Given the description of an element on the screen output the (x, y) to click on. 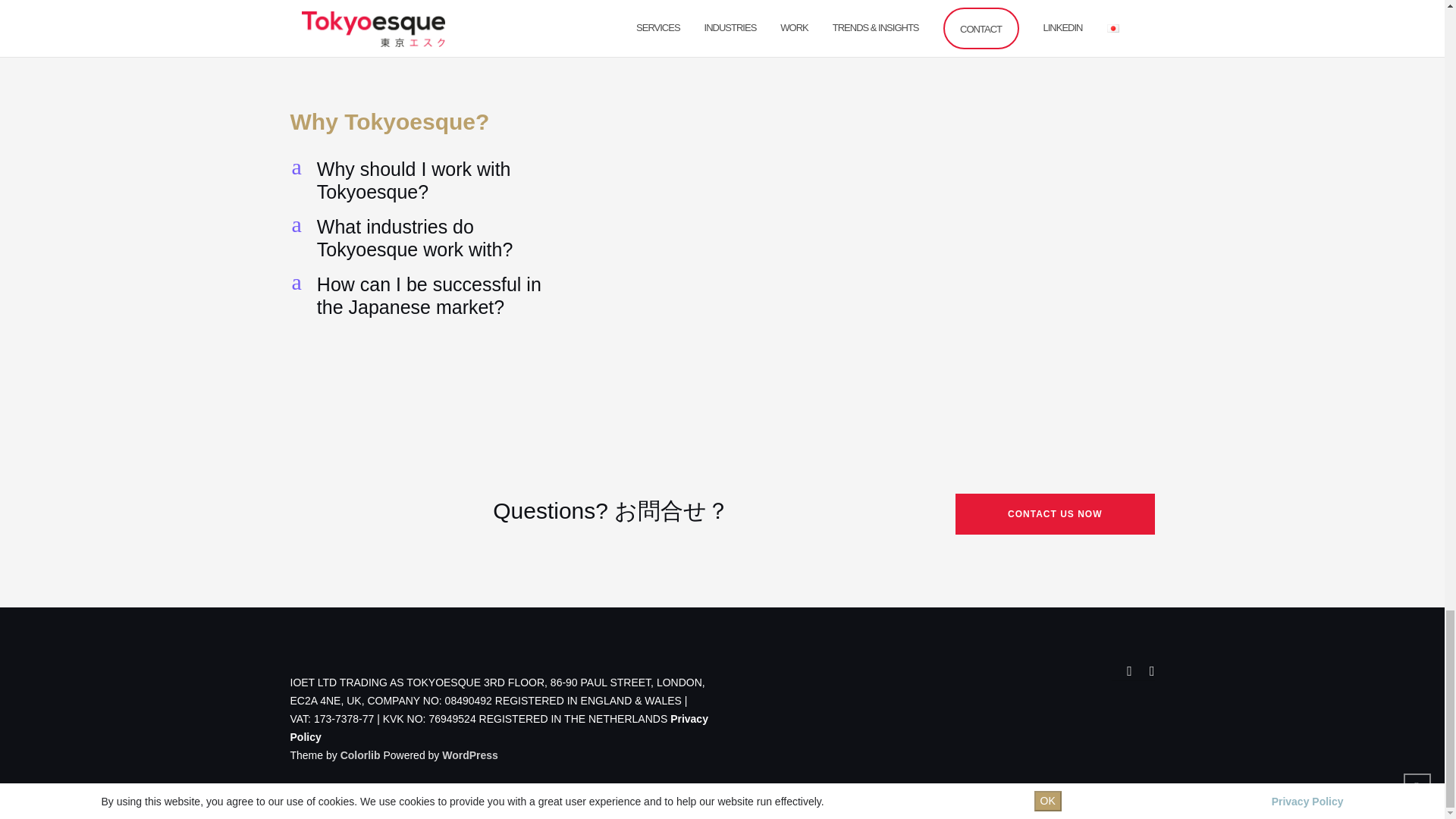
WordPress.org (426, 180)
Colorlib (469, 755)
